Given the description of an element on the screen output the (x, y) to click on. 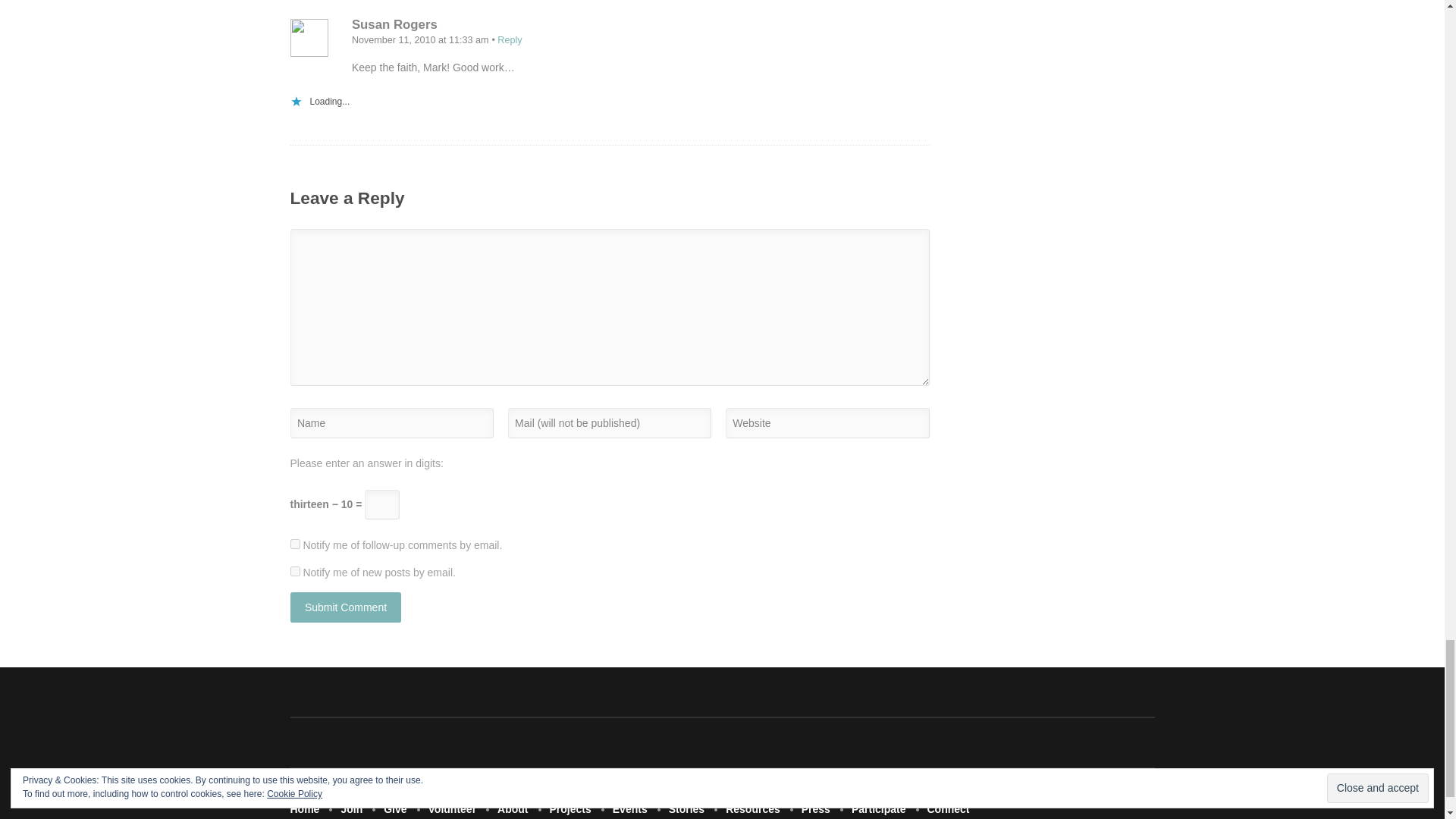
Name (391, 422)
Website (827, 422)
subscribe (294, 571)
Submit Comment (345, 607)
subscribe (294, 543)
